Given the description of an element on the screen output the (x, y) to click on. 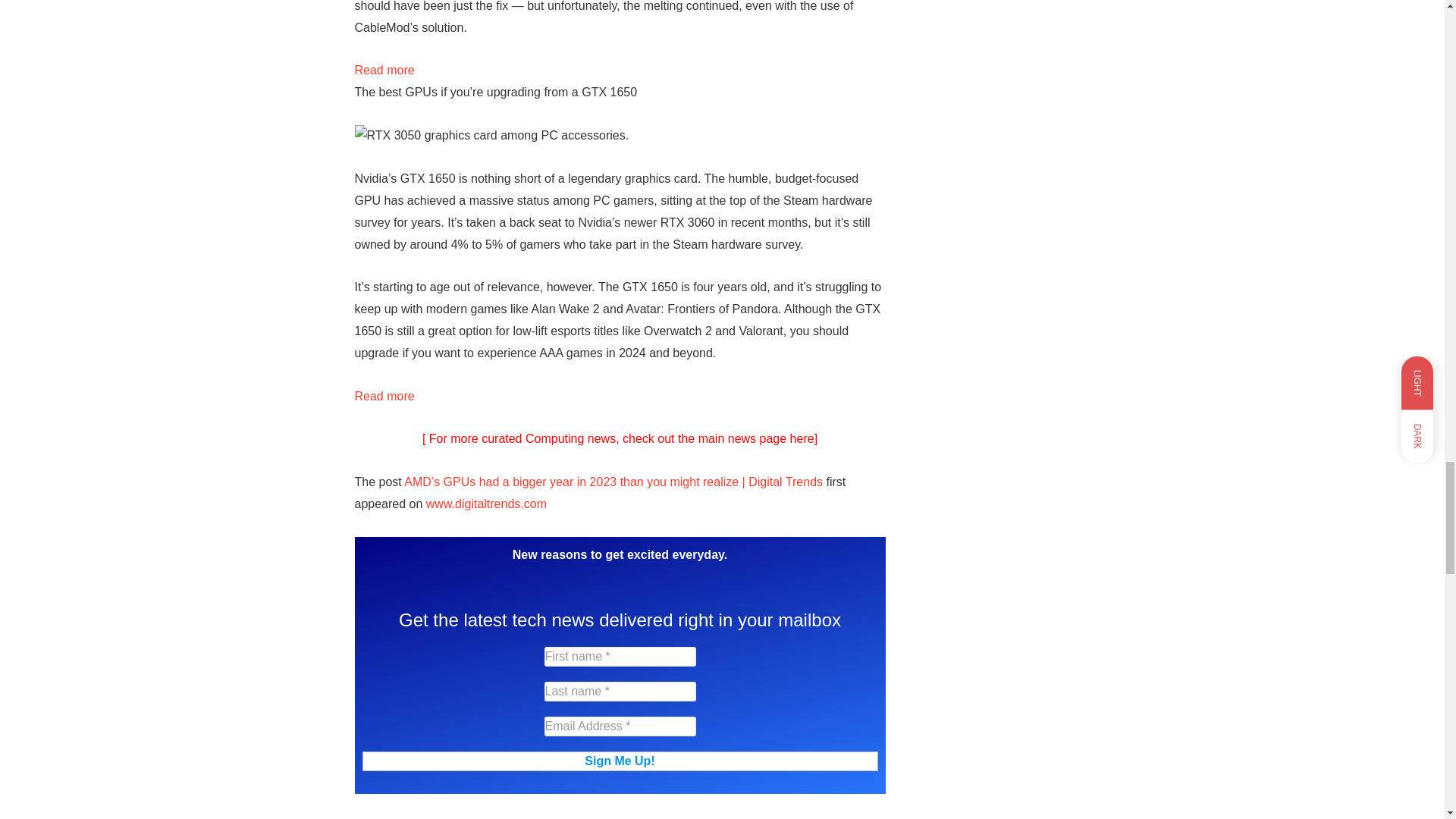
Sign Me Up! (619, 761)
